Given the description of an element on the screen output the (x, y) to click on. 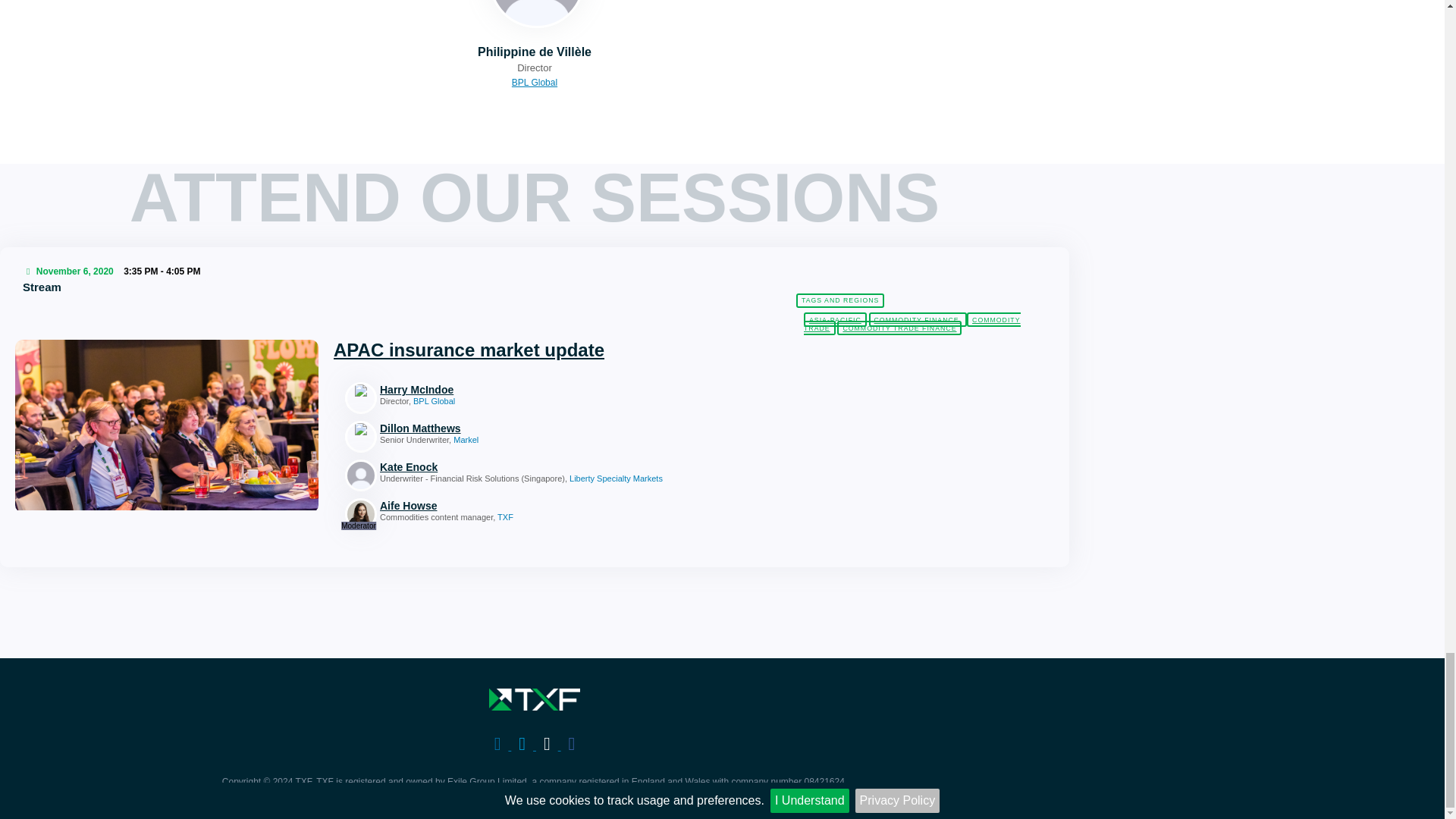
Kate Enock (532, 466)
APAC insurance market update (468, 349)
Harry McIndoe (532, 389)
COMMODITY FINANCE (918, 319)
BPL Global (534, 81)
COMMODITY TRADE (911, 323)
Dillon Matthews (532, 428)
COMMODITY TRADE FINANCE (898, 327)
TAGS AND REGIONS (839, 300)
ASIA-PACIFIC (834, 319)
Aife Howse (532, 505)
